Given the description of an element on the screen output the (x, y) to click on. 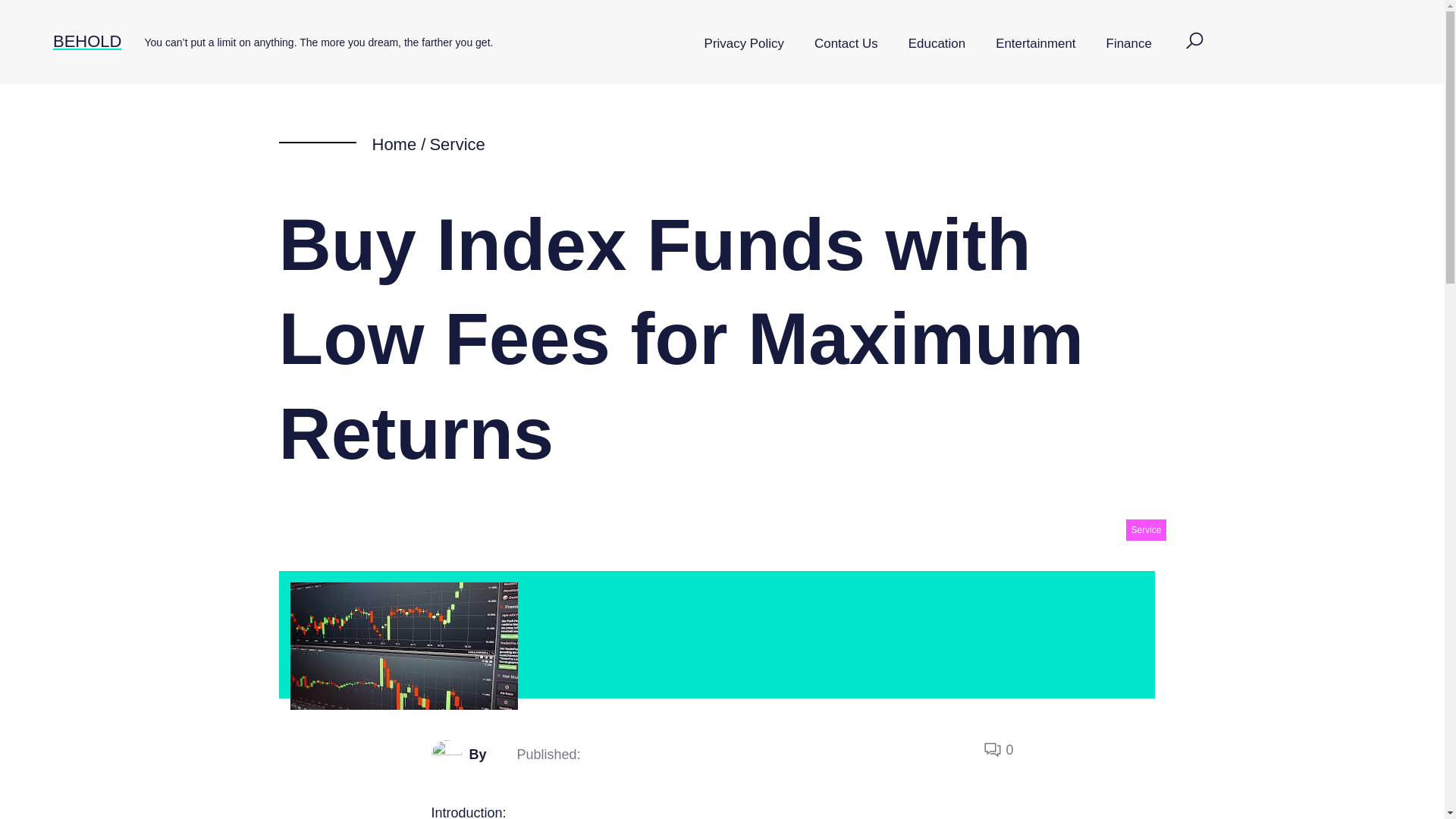
Education (936, 43)
Finance (1128, 43)
Home (393, 144)
Privacy Policy (743, 43)
Service (456, 144)
Contact Us (846, 43)
Service (1145, 529)
Entertainment (1034, 43)
BEHOLD (86, 40)
